Given the description of an element on the screen output the (x, y) to click on. 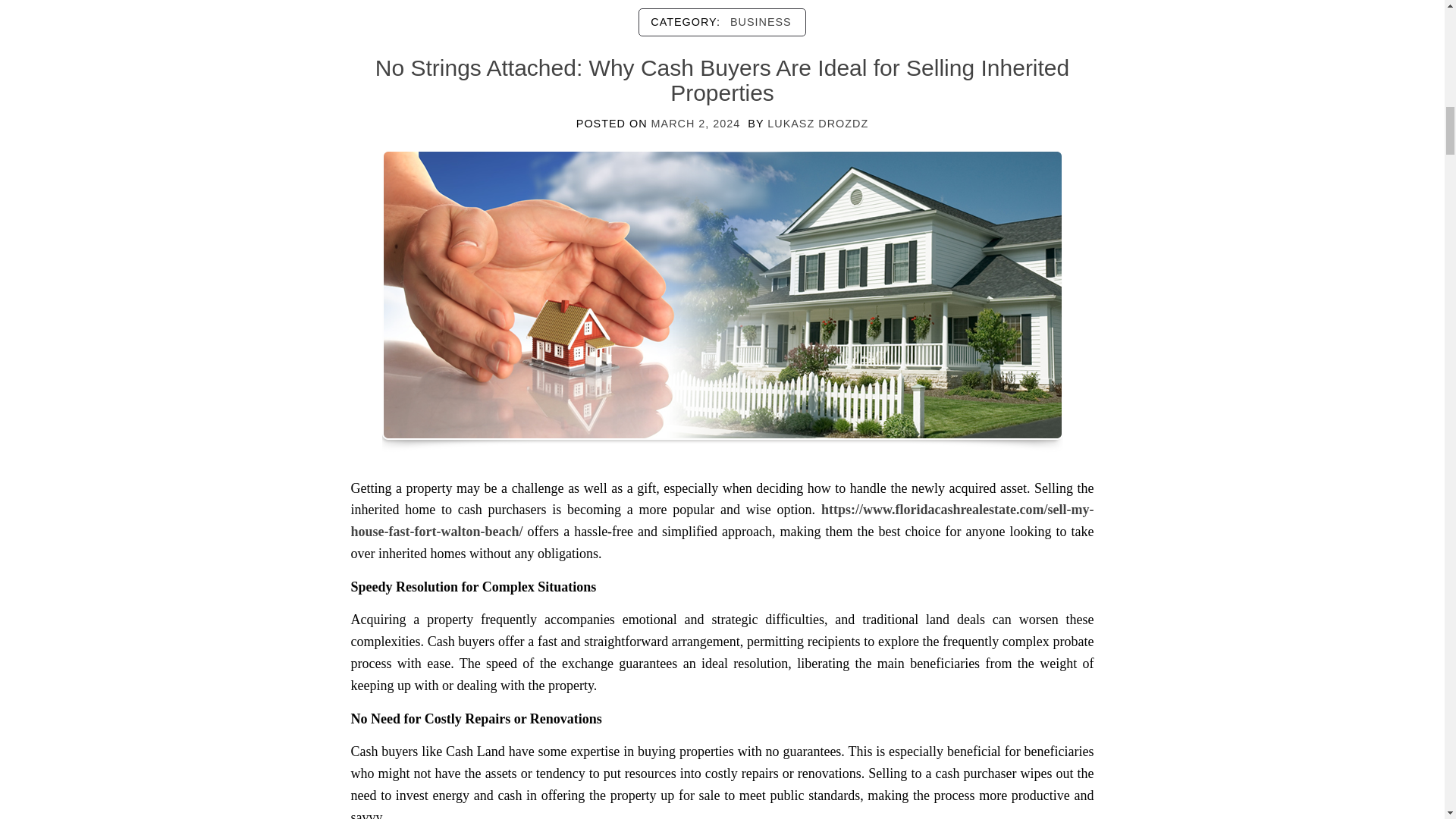
BUSINESS (760, 21)
LUKASZ DROZDZ (817, 123)
MARCH 2, 2024 (695, 123)
